Given the description of an element on the screen output the (x, y) to click on. 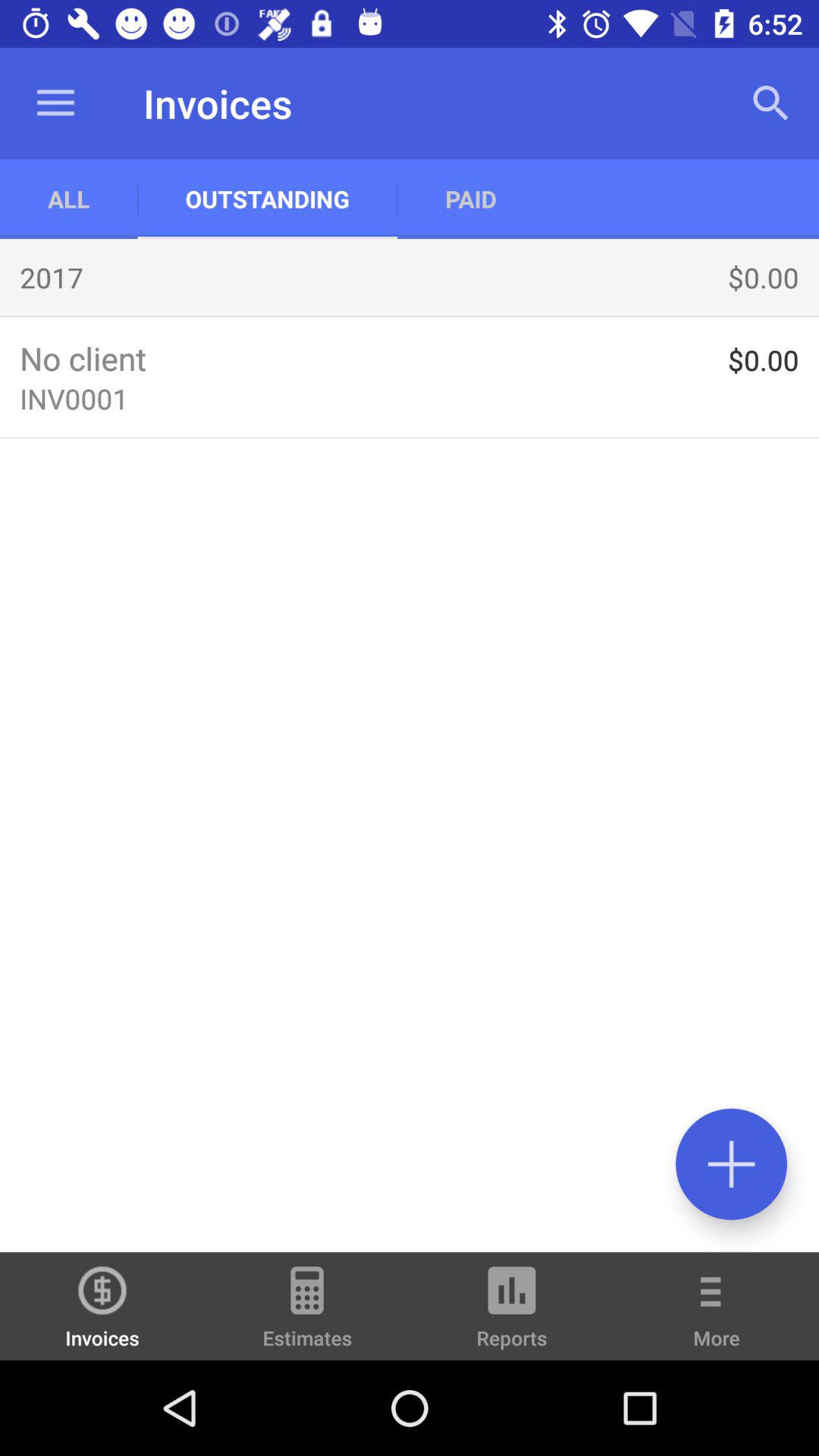
press the item to the left of paid (267, 198)
